Given the description of an element on the screen output the (x, y) to click on. 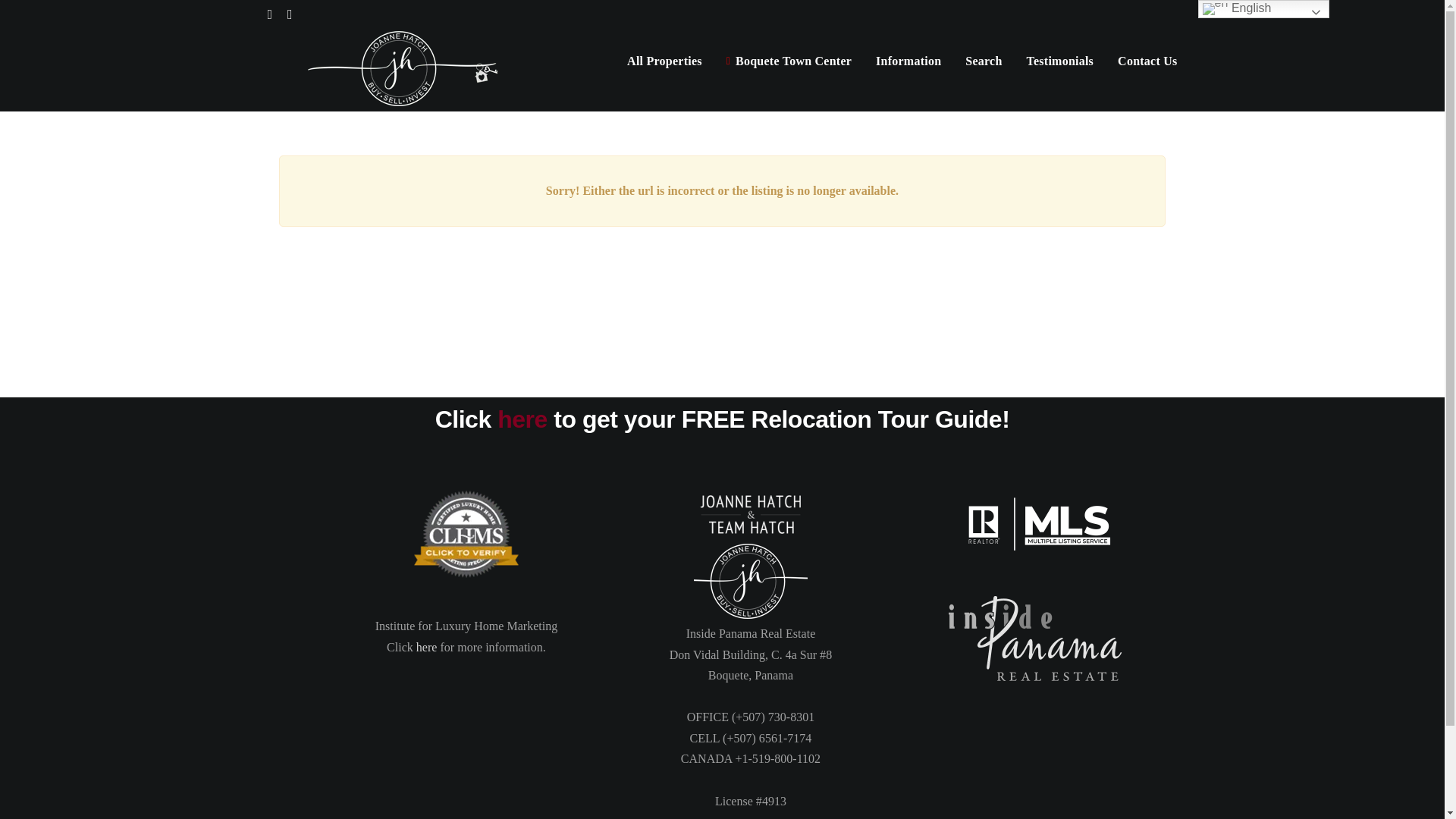
All Properties (664, 61)
Information (908, 61)
Testimonials (1060, 61)
Joanne Hatch Panama Real Estate (751, 514)
Boquete Town Center (788, 61)
Inside Panama Real Estate (1035, 638)
homes for sale in panama (465, 534)
Contact Us (1147, 61)
Joanne Hatch Panama Real Estate (751, 580)
